Given the description of an element on the screen output the (x, y) to click on. 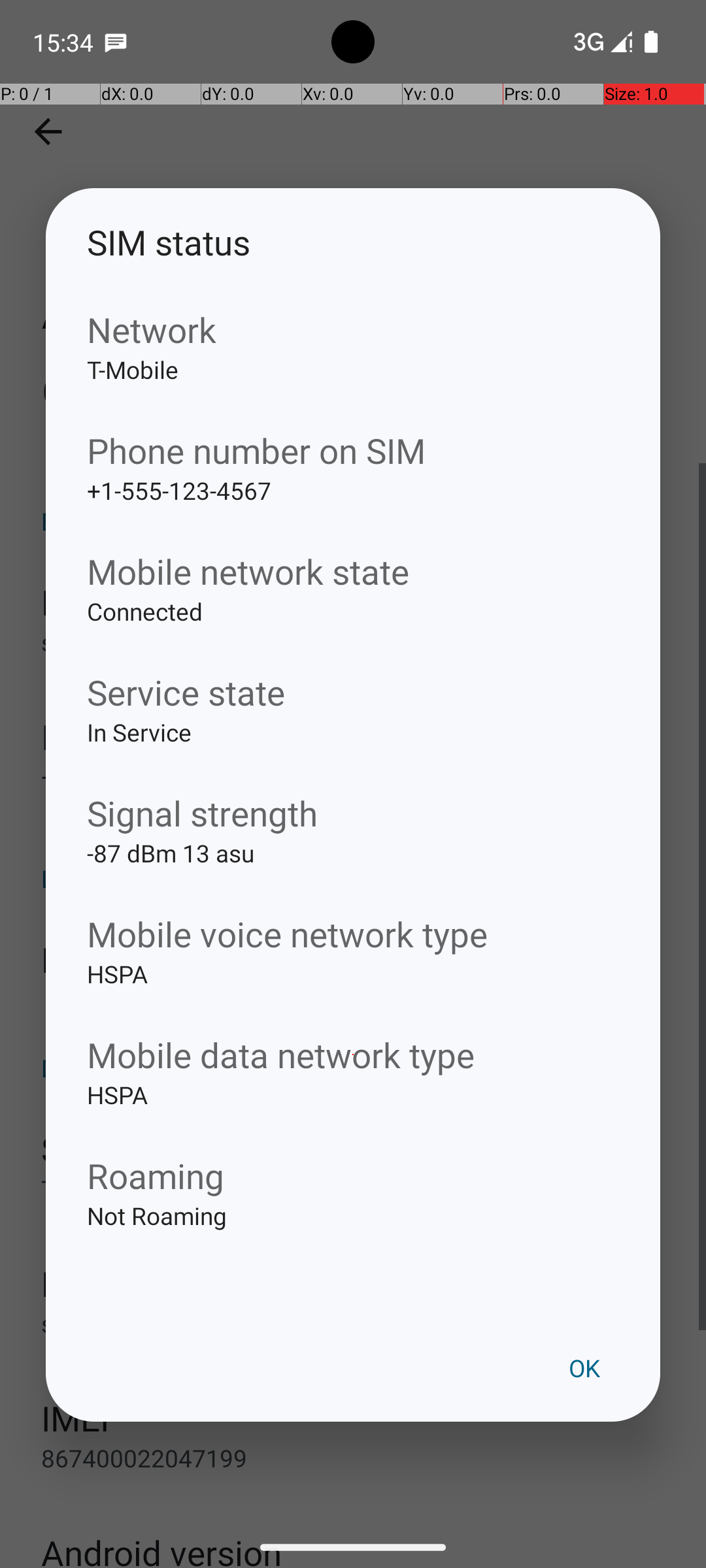
Network Element type: android.widget.TextView (352, 329)
Phone number on SIM Element type: android.widget.TextView (352, 450)
Mobile network state Element type: android.widget.TextView (352, 571)
Connected Element type: android.widget.TextView (352, 631)
Service state Element type: android.widget.TextView (352, 692)
In Service Element type: android.widget.TextView (352, 752)
Signal strength Element type: android.widget.TextView (352, 812)
-87 dBm 13 asu Element type: android.widget.TextView (352, 873)
Mobile voice network type Element type: android.widget.TextView (352, 933)
HSPA Element type: android.widget.TextView (352, 994)
Mobile data network type Element type: android.widget.TextView (352, 1054)
Roaming Element type: android.widget.TextView (352, 1175)
Not Roaming Element type: android.widget.TextView (352, 1235)
